Given the description of an element on the screen output the (x, y) to click on. 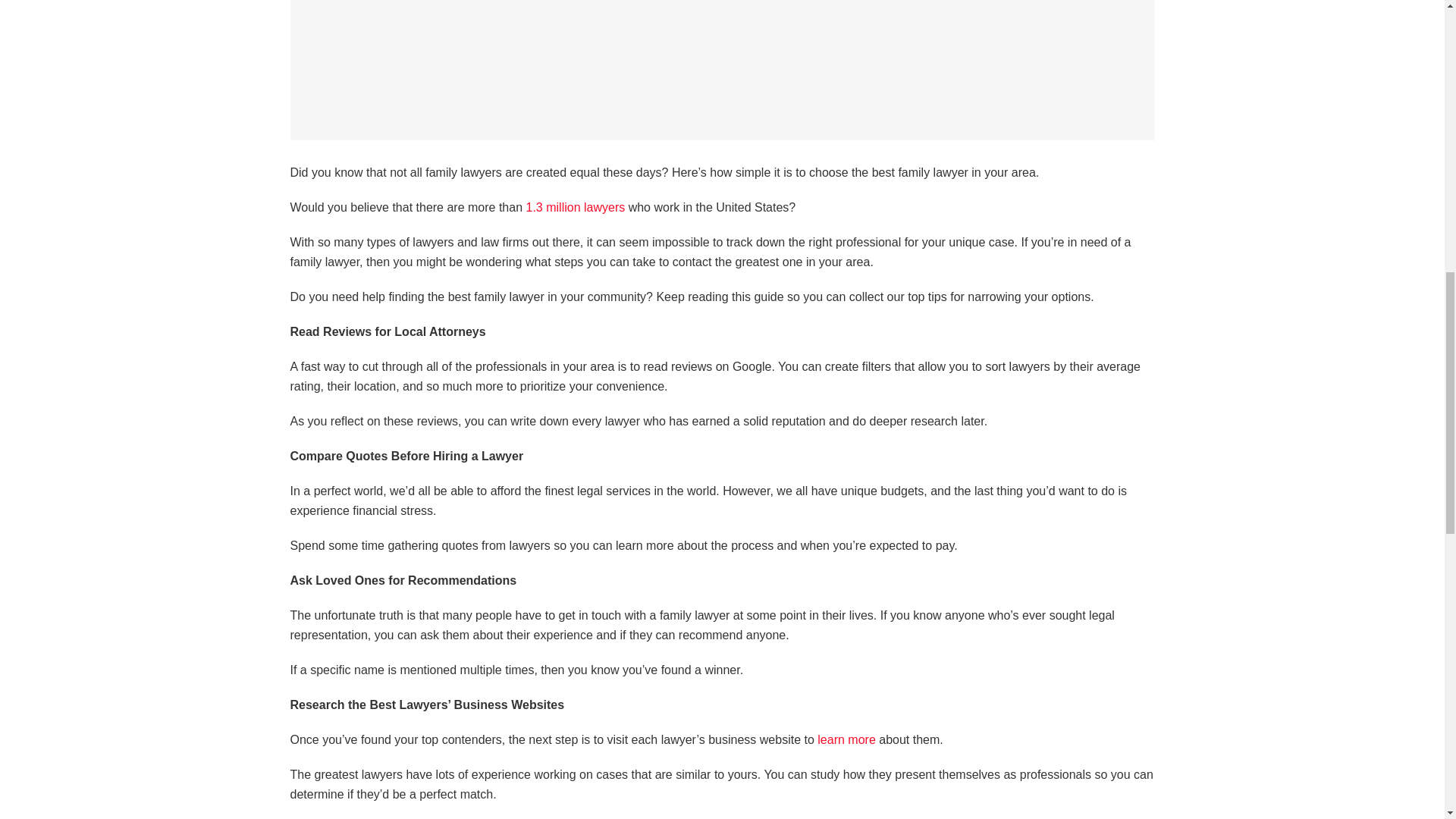
1.3 million lawyers (575, 206)
learn more (845, 739)
